Given the description of an element on the screen output the (x, y) to click on. 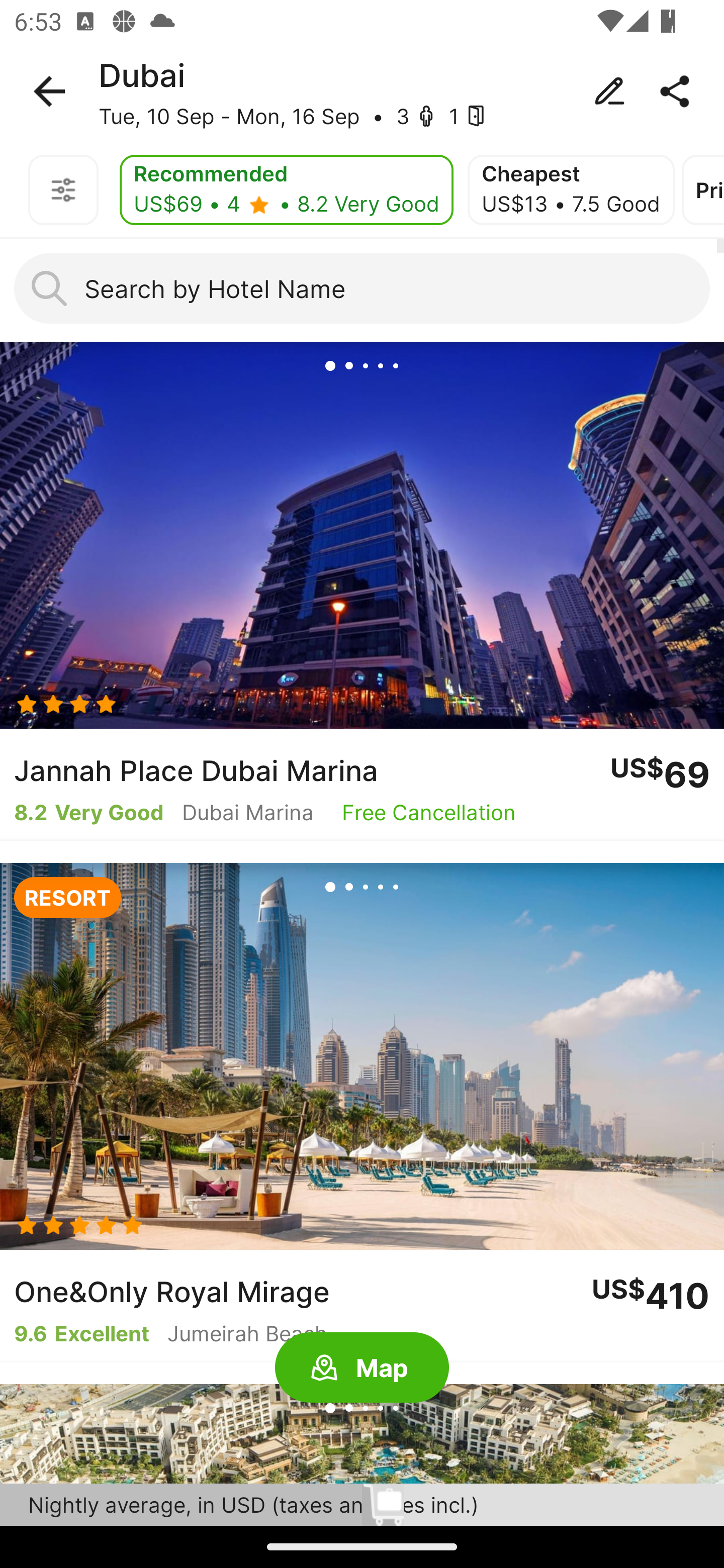
Dubai Tue, 10 Sep - Mon, 16 Sep  •  3 -  1 - (361, 91)
Recommended  US$69  • 4 - • 8.2 Very Good (286, 190)
Cheapest US$13  • 7.5 Good (570, 190)
Search by Hotel Name  (361, 288)
Map  (361, 1367)
